Given the description of an element on the screen output the (x, y) to click on. 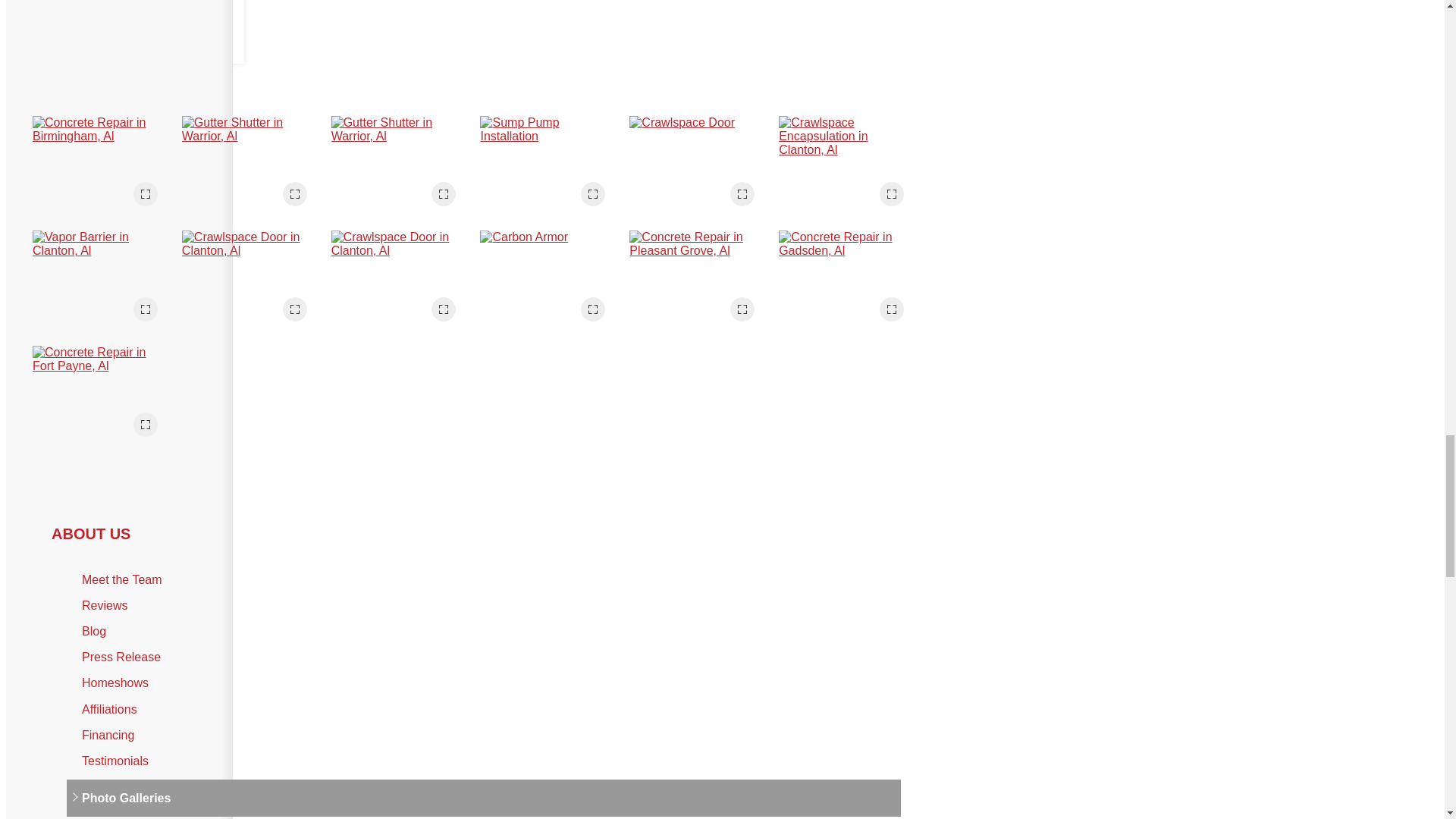
Concrete Repair in Birmingham, Al (101, 167)
Crawlspace Encapsulation in Fairhope, Al (138, 31)
Gutter Shutter in Warrior, Al (250, 167)
Crawlspace Door (697, 167)
Gutter Shutter in Warrior, Al (399, 167)
Crawlspace Encapsulation in Clanton, Al (846, 167)
Carbon Armor (548, 281)
Sump Pump Installation (548, 167)
Crawlspace Door in Clanton, Al (399, 281)
Crawlspace Door in Clanton, Al (250, 281)
Vapor Barrier in Clanton, Al (101, 281)
